Given the description of an element on the screen output the (x, y) to click on. 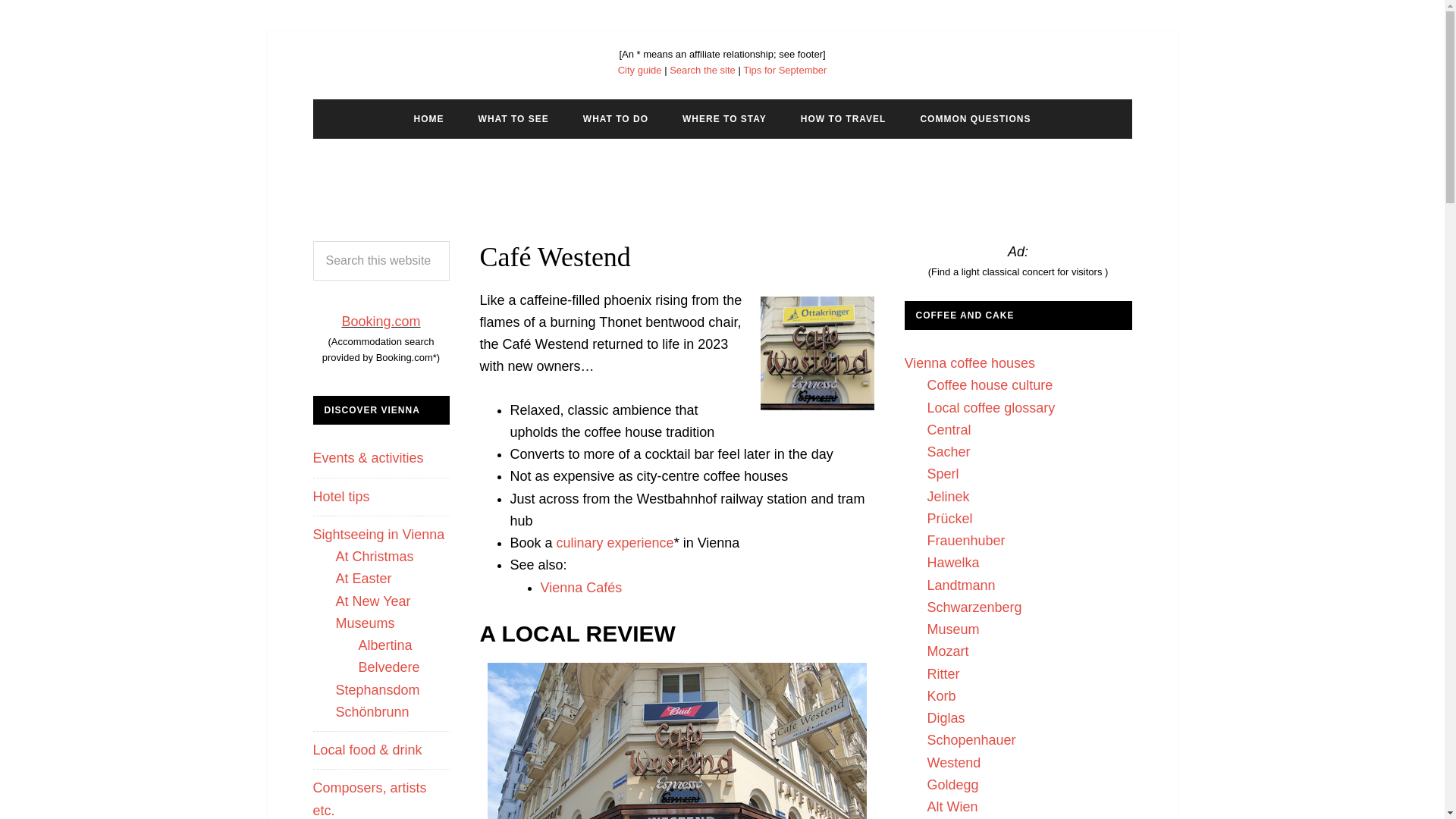
Westend (952, 762)
Korb (940, 695)
Ritter (942, 673)
Museum (952, 629)
Landtmann (960, 585)
HOME (429, 118)
WHERE TO STAY (723, 118)
City guide (639, 70)
Coffee house culture (989, 385)
Sacher (947, 451)
